Given the description of an element on the screen output the (x, y) to click on. 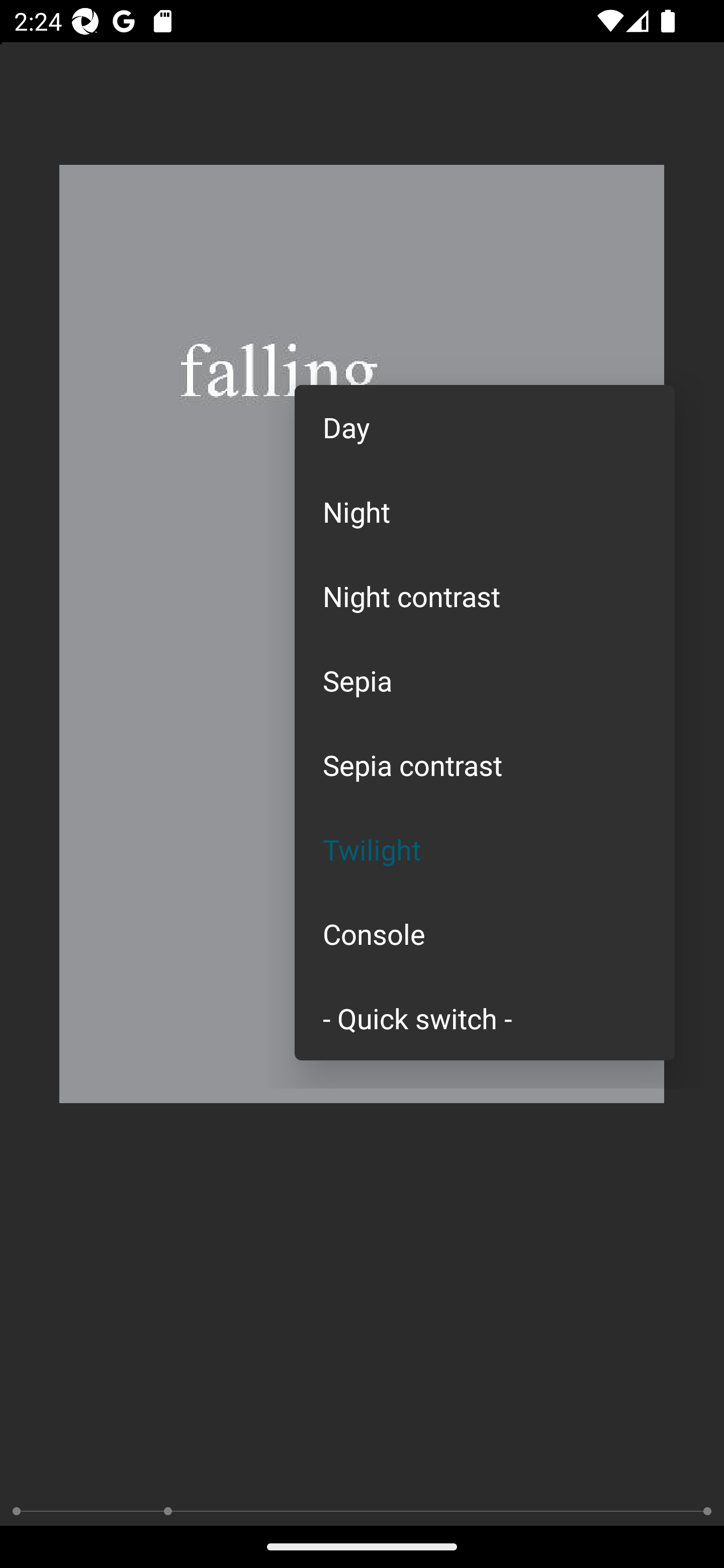
Day (484, 426)
Night (484, 510)
Night contrast (484, 595)
Sepia (484, 680)
Sepia contrast (484, 764)
Twilight (484, 849)
Console (484, 933)
- Quick switch - (484, 1017)
